Given the description of an element on the screen output the (x, y) to click on. 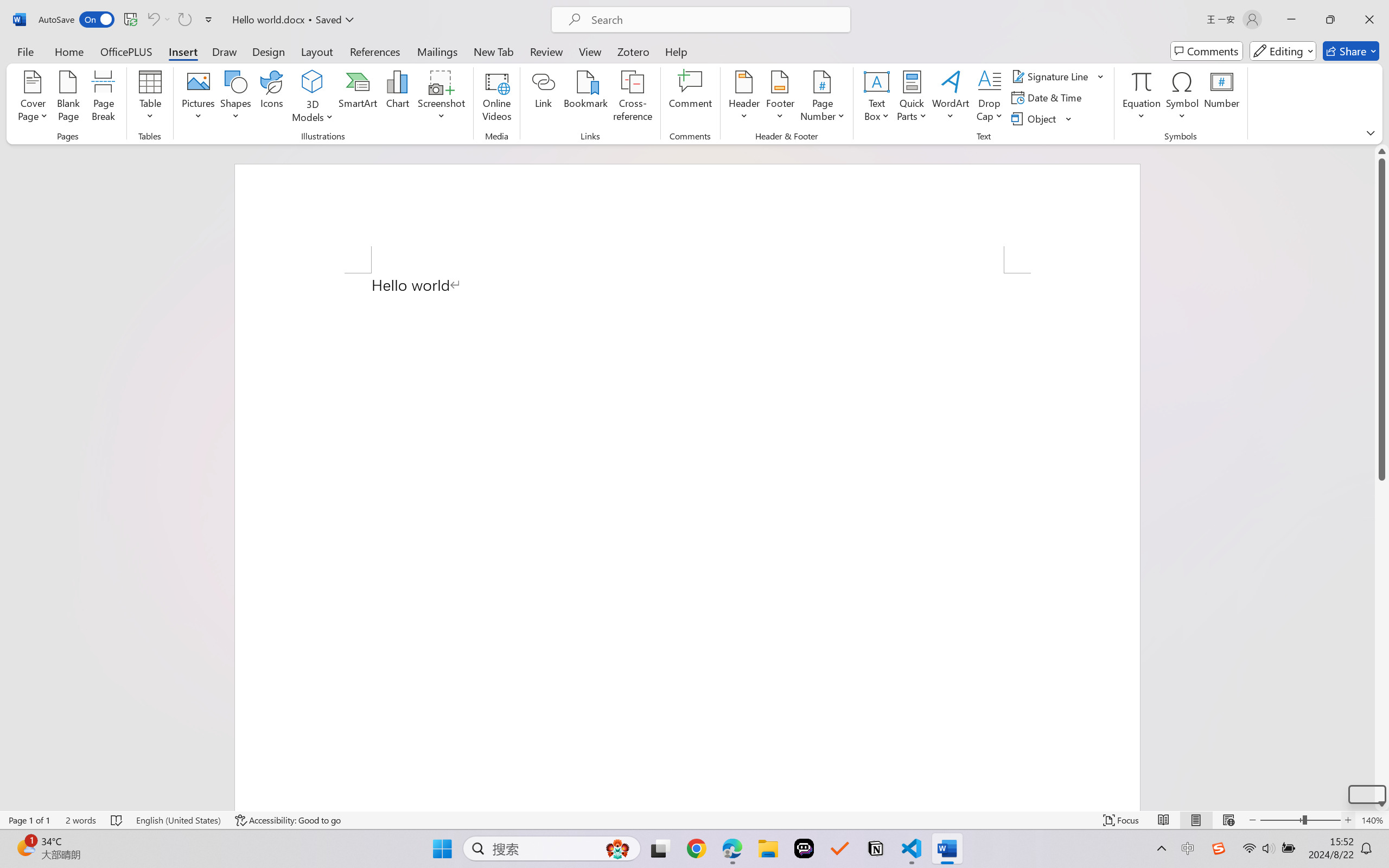
Pictures (198, 97)
Date & Time... (1048, 97)
Web Layout (1228, 819)
Line down (1382, 803)
Print Layout (1196, 819)
Zoom (1300, 819)
Line up (1382, 150)
Equation (1141, 81)
Signature Line (1051, 75)
Comments (1206, 50)
Focus  (1121, 819)
Review (546, 51)
